Given the description of an element on the screen output the (x, y) to click on. 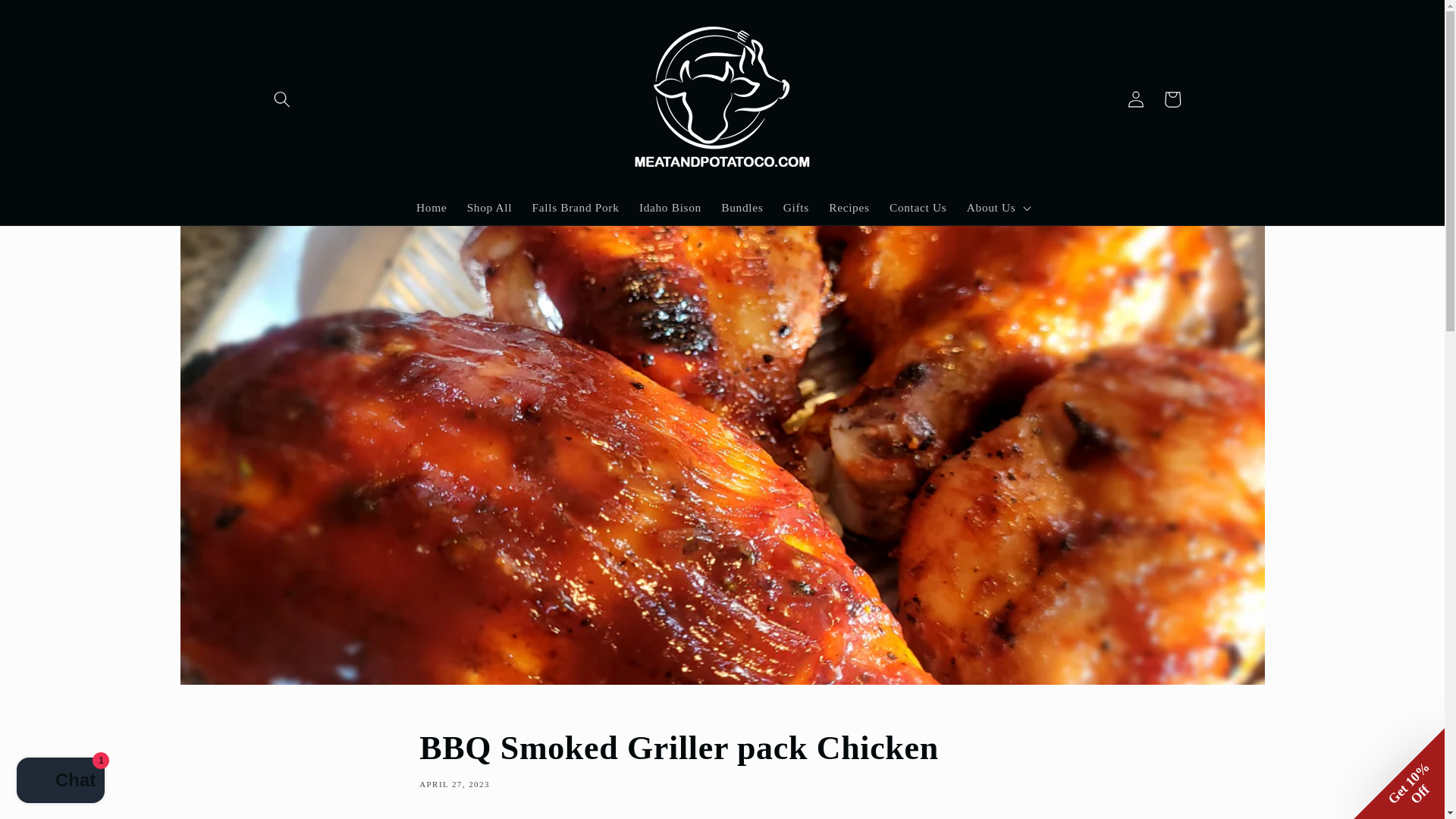
Home (431, 207)
Contact Us (917, 207)
Log in (1136, 99)
Recipes (848, 207)
Gifts (795, 207)
Shop All (489, 207)
Cart (1172, 99)
Shopify online store chat (60, 781)
Skip to content (50, 19)
Bundles (742, 207)
Falls Brand Pork (574, 207)
Idaho Bison (669, 207)
